Given the description of an element on the screen output the (x, y) to click on. 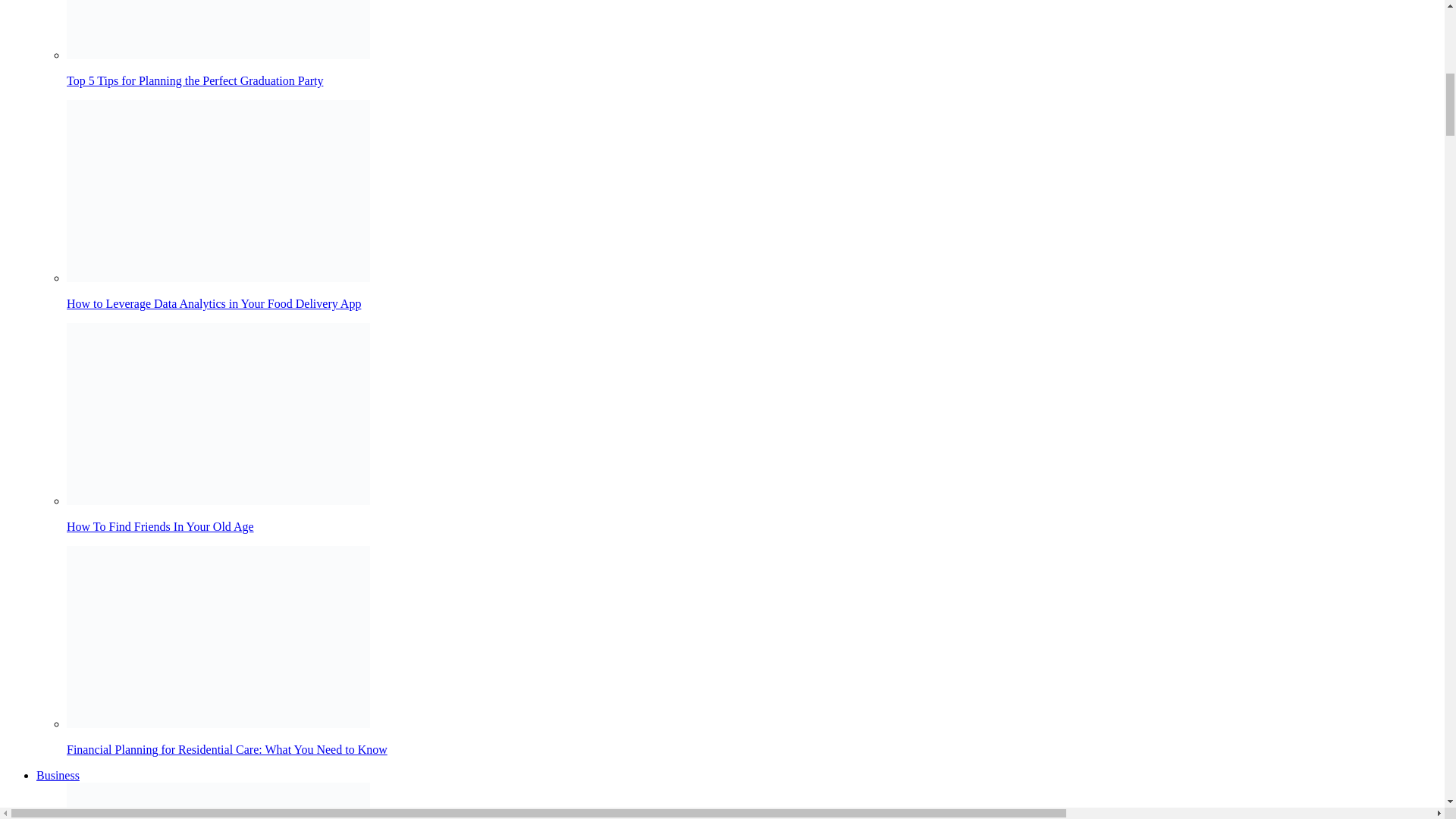
Tips for a Stress-Free Home Selling Experience 6 (217, 800)
Tips for a Stress-Free Home Selling Experience (752, 800)
Top 5 Tips for Planning the Perfect Graduation Party (752, 43)
Top 5 Tips for Planning the Perfect Graduation Party 2 (217, 29)
Business (58, 775)
How To Find Friends In Your Old Age 4 (217, 413)
How to Leverage Data Analytics in Your Food Delivery App 3 (217, 190)
